Given the description of an element on the screen output the (x, y) to click on. 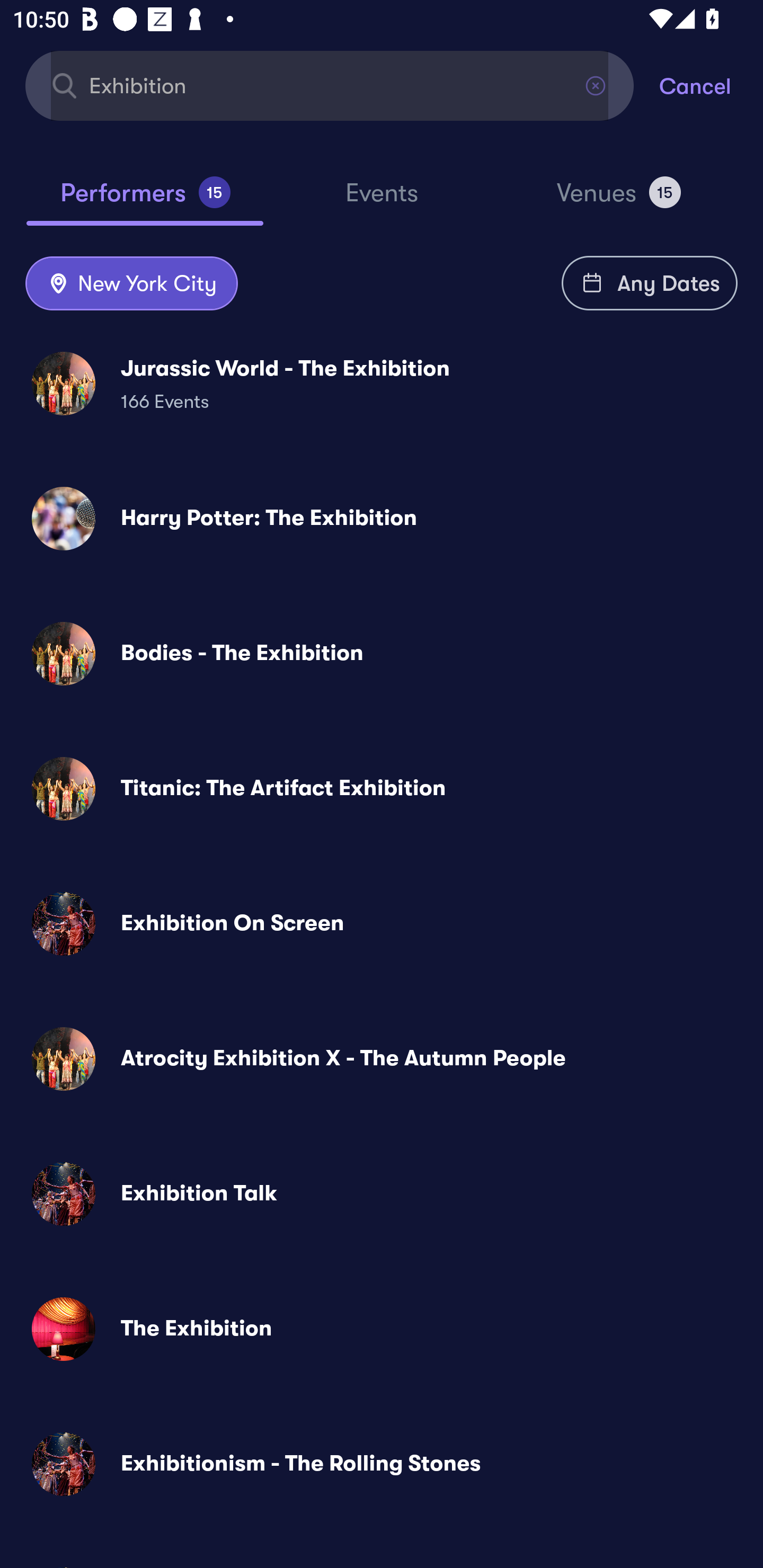
Exhibition Find (329, 85)
Exhibition Find (329, 85)
Cancel (711, 85)
Performers 15 (144, 200)
Venues 15 (618, 200)
Events (381, 201)
Any Dates (649, 282)
New York City (131, 283)
Jurassic World - The Exhibition 166 Events (381, 383)
Harry Potter: The Exhibition (381, 518)
Bodies - The Exhibition (381, 652)
Titanic: The Artifact Exhibition (381, 788)
Exhibition On Screen (381, 924)
Atrocity Exhibition X - The Autumn People (381, 1059)
Exhibition Talk (381, 1193)
The Exhibition (381, 1328)
Exhibitionism - The Rolling Stones (381, 1463)
